Given the description of an element on the screen output the (x, y) to click on. 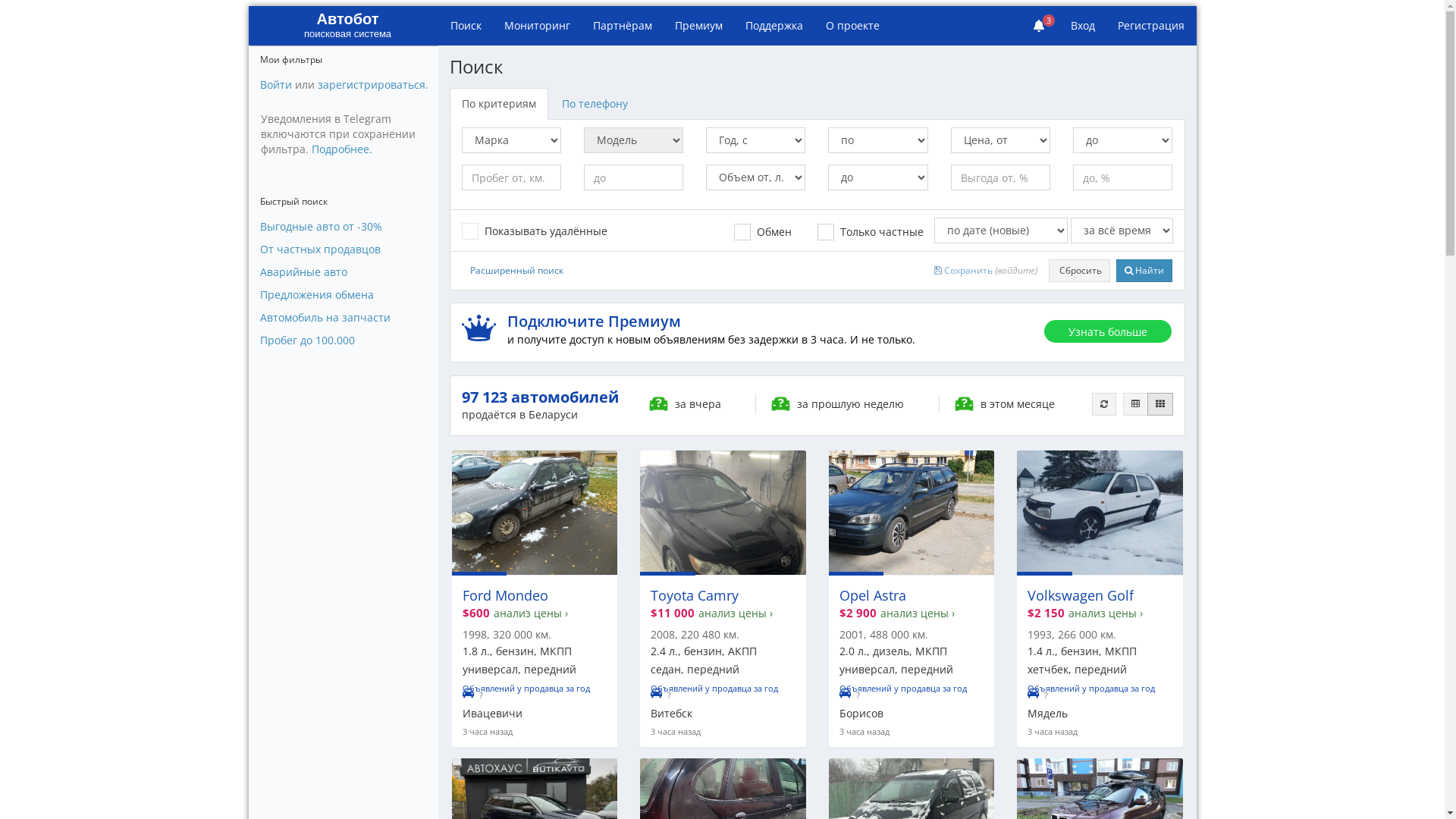
Toyota Camry Element type: text (694, 595)
Ford Mondeo Element type: text (505, 595)
Opel Astra Element type: text (871, 595)
3
  Element type: text (1039, 25)
Volkswagen Golf Element type: text (1080, 595)
